Given the description of an element on the screen output the (x, y) to click on. 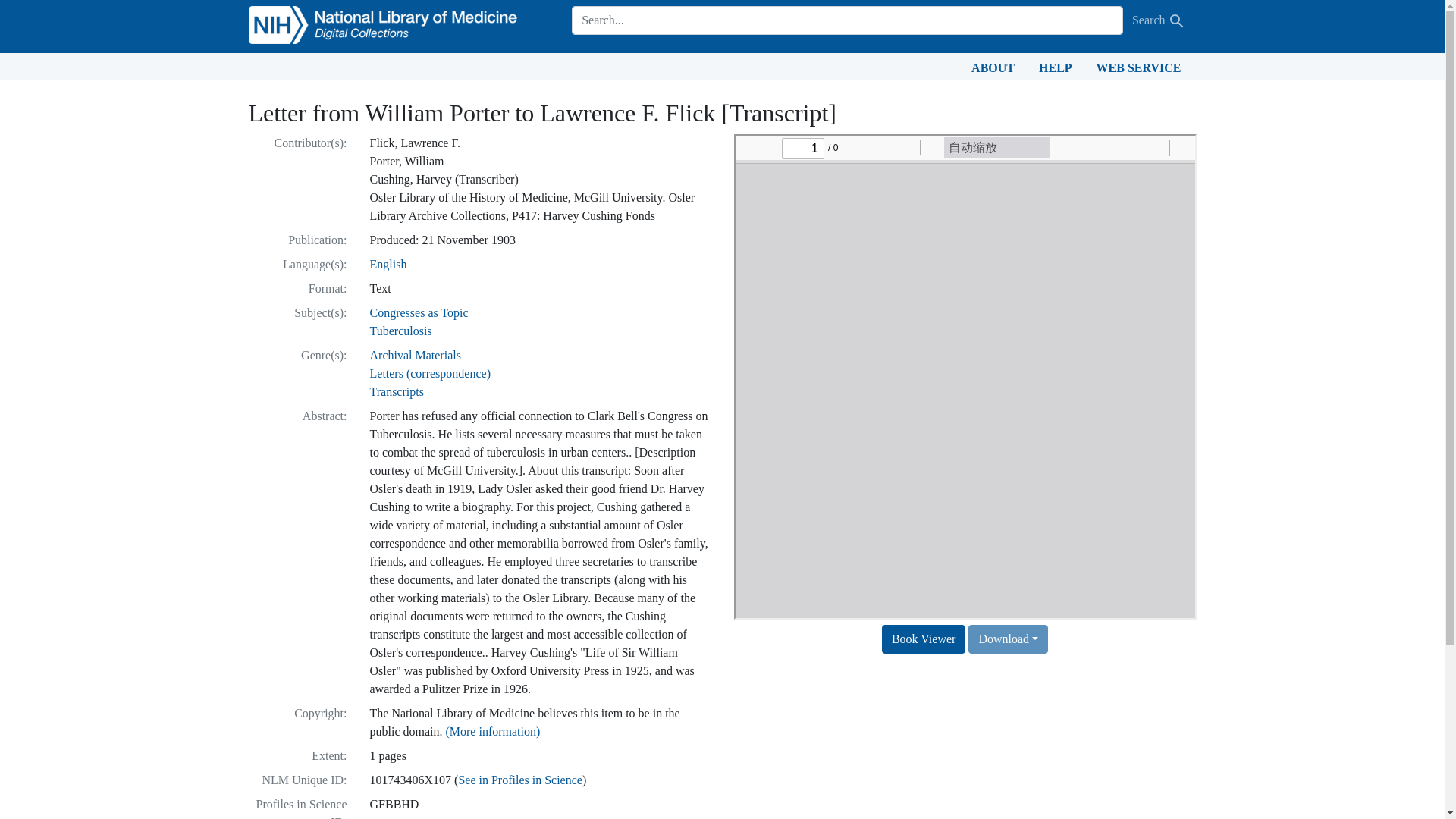
Download (1008, 638)
Search Search (1159, 20)
See in Profiles in Science (520, 779)
Congresses as Topic (418, 312)
Archival Materials (415, 354)
Tuberculosis (400, 330)
Book Viewer (924, 638)
WEB SERVICE (1138, 66)
Transcripts (396, 391)
English (388, 264)
HELP (1055, 66)
ABOUT (992, 66)
Search (1176, 21)
